Given the description of an element on the screen output the (x, y) to click on. 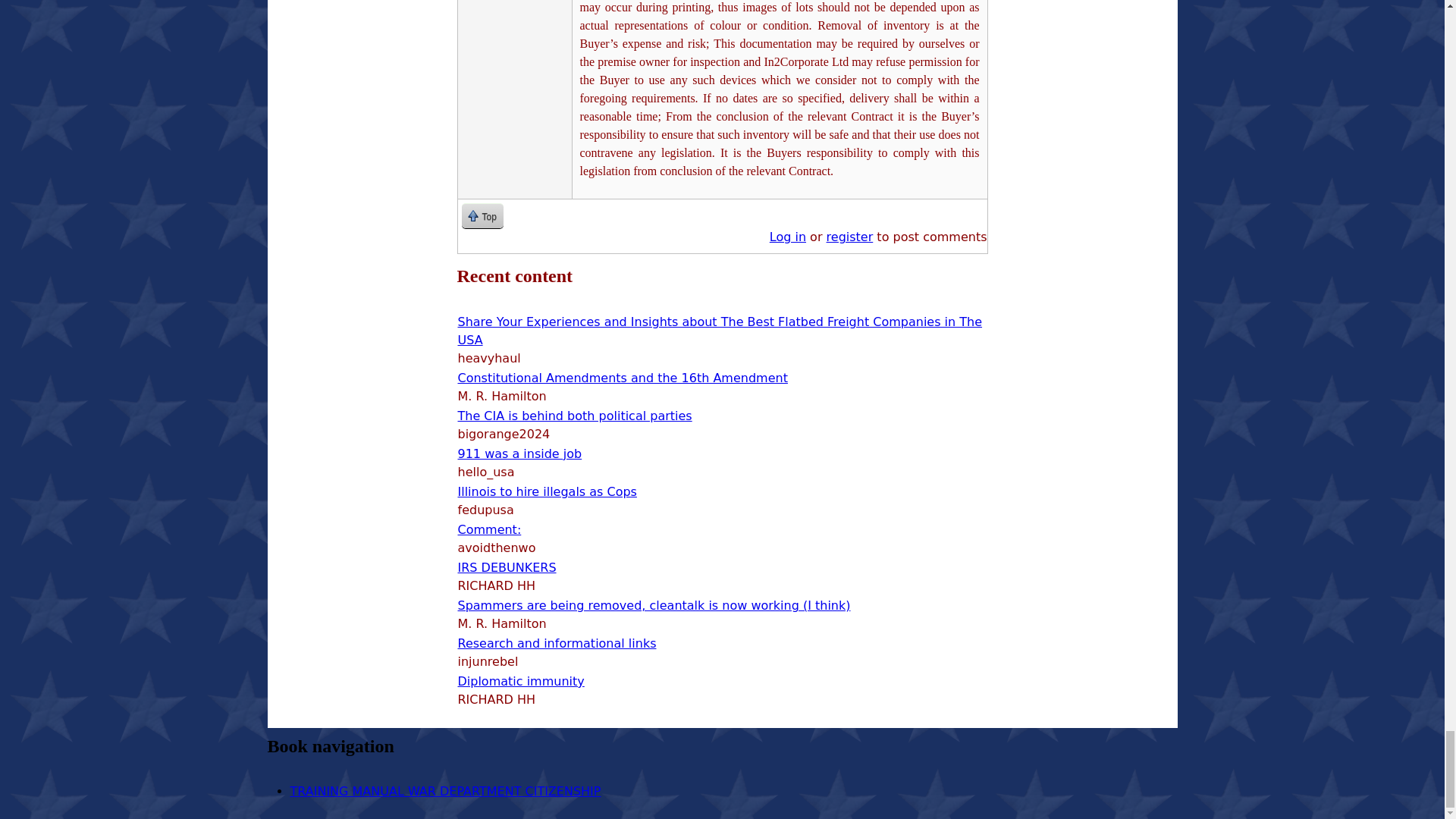
Research and informational links (557, 643)
911 was a inside job (520, 453)
IRS DEBUNKERS (507, 567)
Log in (788, 237)
Constitutional Amendments and the 16th Amendment (622, 377)
Jump to top of page (481, 215)
Top (481, 215)
Diplomatic immunity (521, 681)
The CIA is behind both political parties (575, 415)
register (850, 237)
Comment: (489, 529)
Illinois to hire illegals as Cops (547, 491)
